Given the description of an element on the screen output the (x, y) to click on. 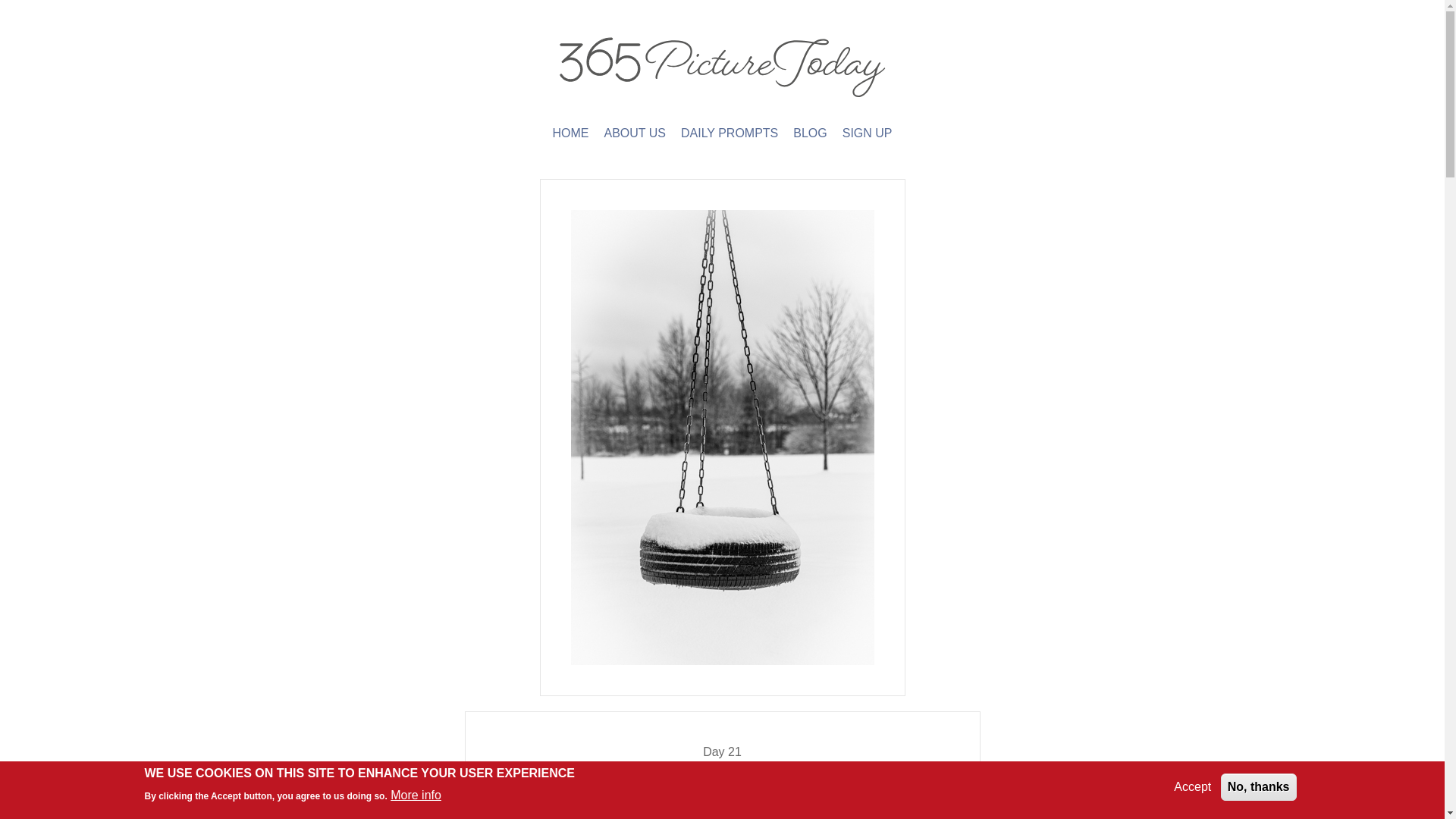
HOME (569, 133)
ABOUT US (634, 133)
DAILY PROMPTS (729, 133)
BLOG (810, 133)
SIGN UP (867, 133)
